Given the description of an element on the screen output the (x, y) to click on. 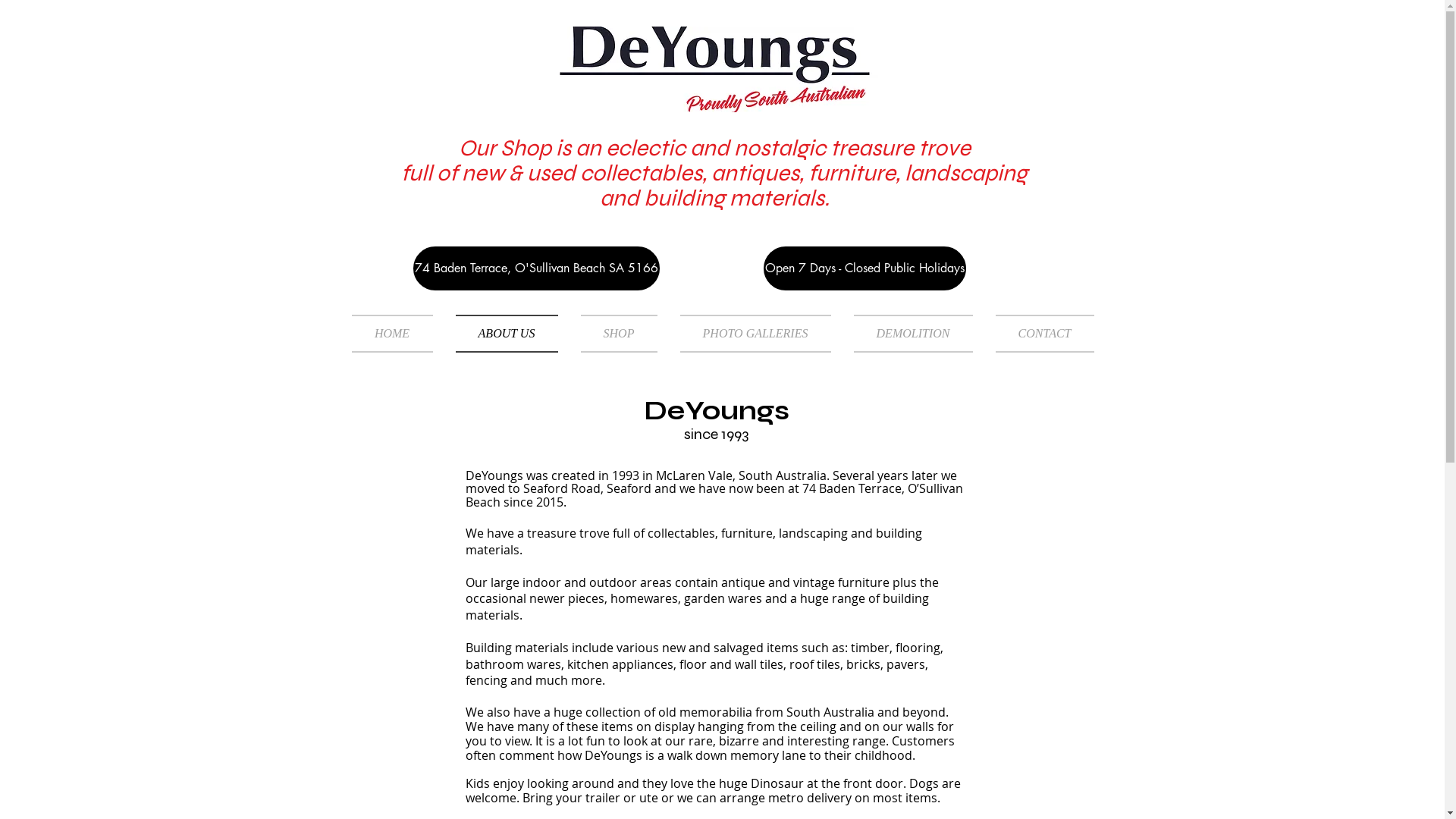
ABOUT US Element type: text (506, 333)
CONTACT Element type: text (1039, 333)
DEMOLITION Element type: text (912, 333)
SHOP Element type: text (618, 333)
HOME Element type: text (397, 333)
PHOTO GALLERIES Element type: text (755, 333)
